Given the description of an element on the screen output the (x, y) to click on. 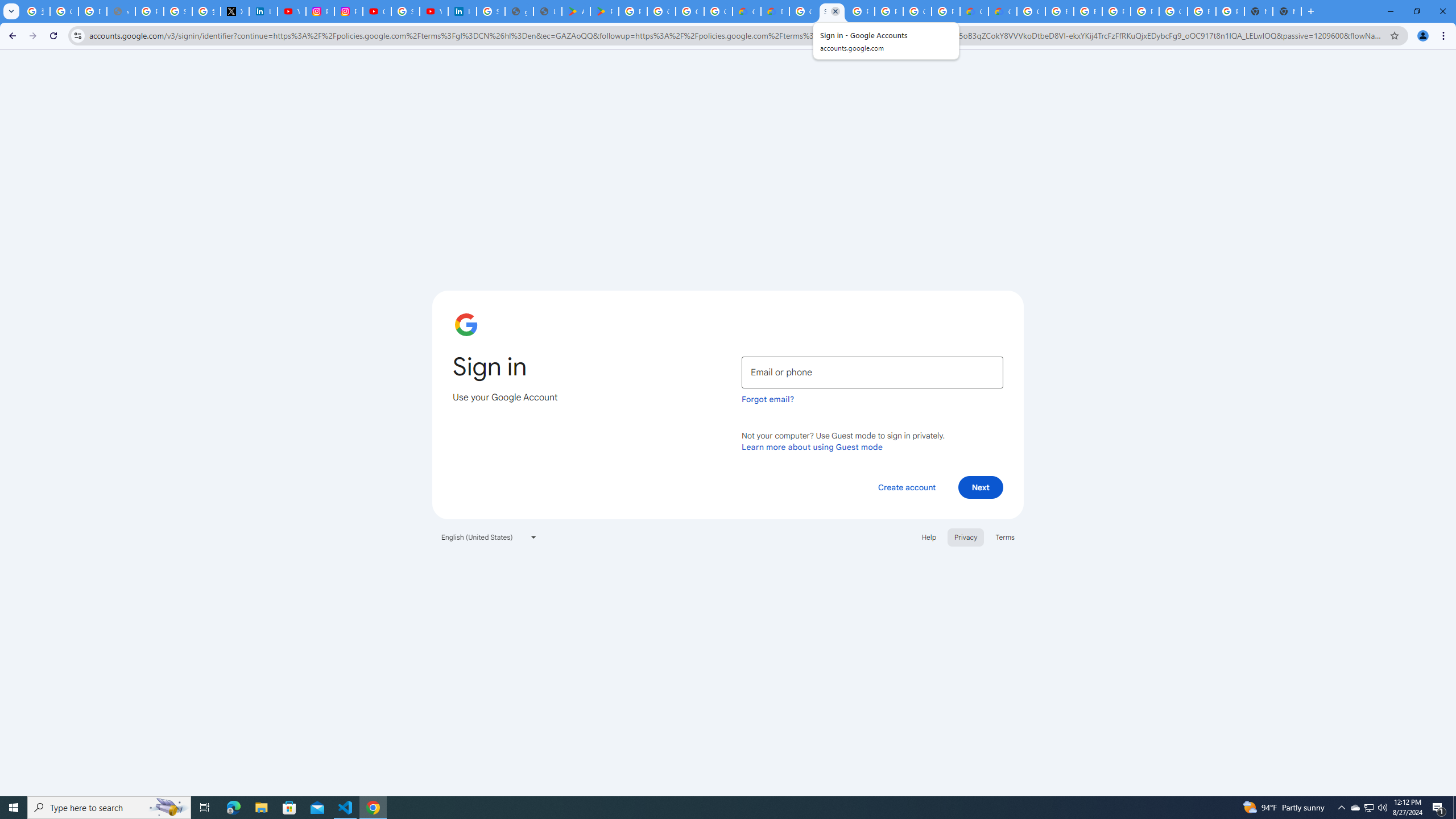
Customer Care | Google Cloud (746, 11)
Customer Care | Google Cloud (973, 11)
Google Cloud Platform (1173, 11)
Sign in - Google Accounts (831, 11)
